Given the description of an element on the screen output the (x, y) to click on. 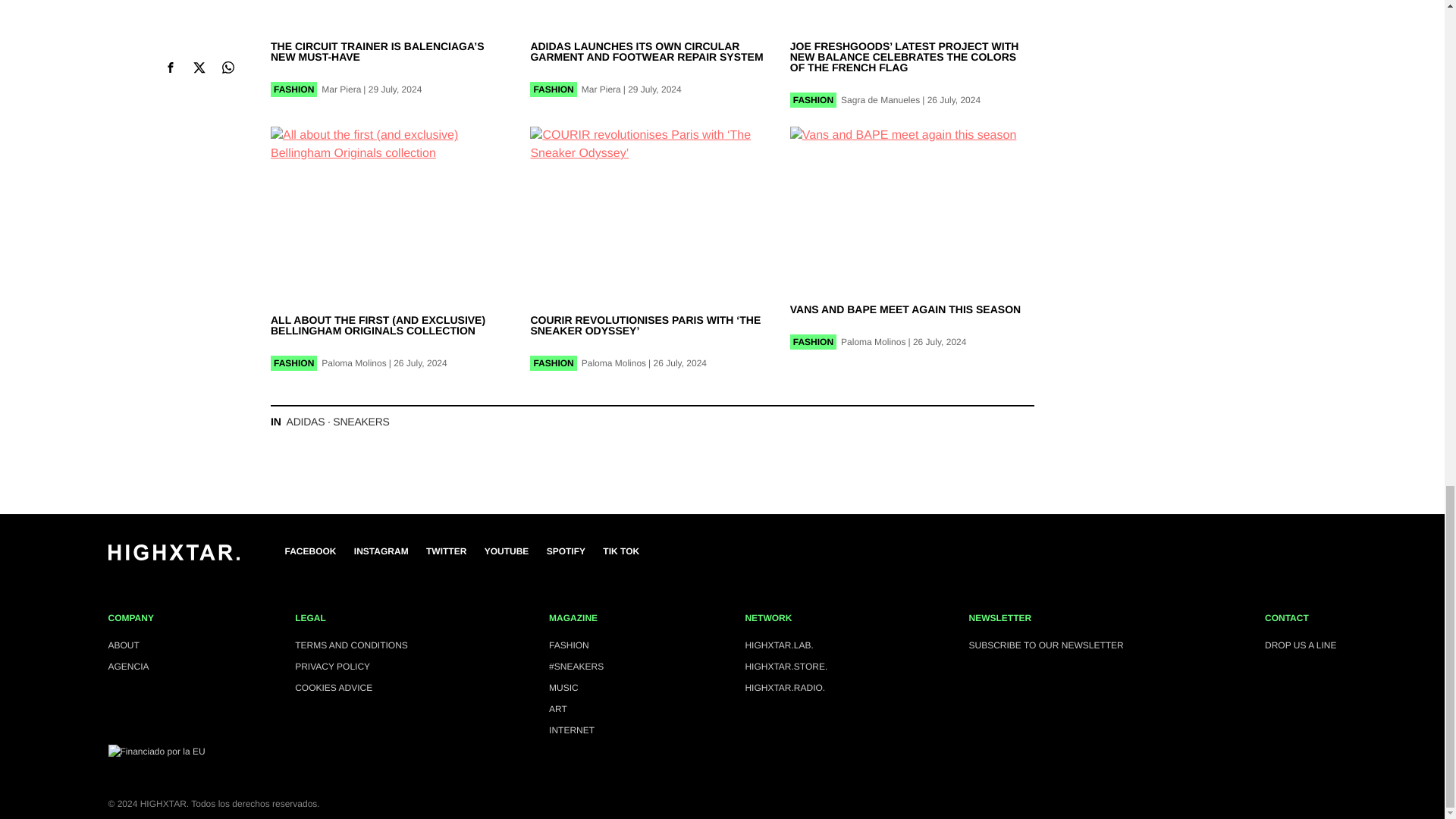
Facebook (310, 550)
Twitter (446, 550)
Enlace a Inicio (172, 557)
Instagram (381, 550)
Spotify (565, 550)
YouTube (507, 550)
